Given the description of an element on the screen output the (x, y) to click on. 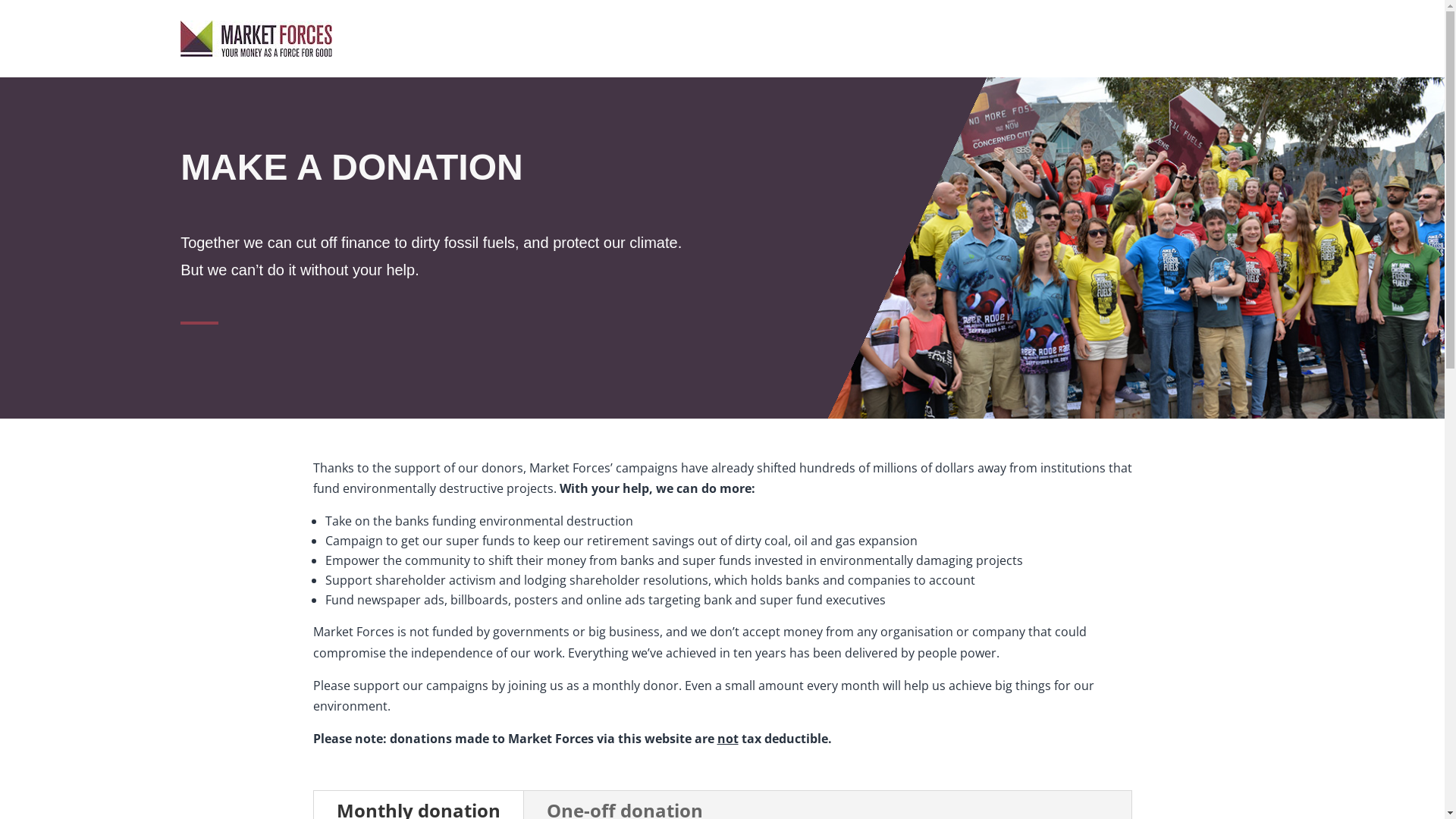
Market Forces logo Element type: hover (256, 38)
